Given the description of an element on the screen output the (x, y) to click on. 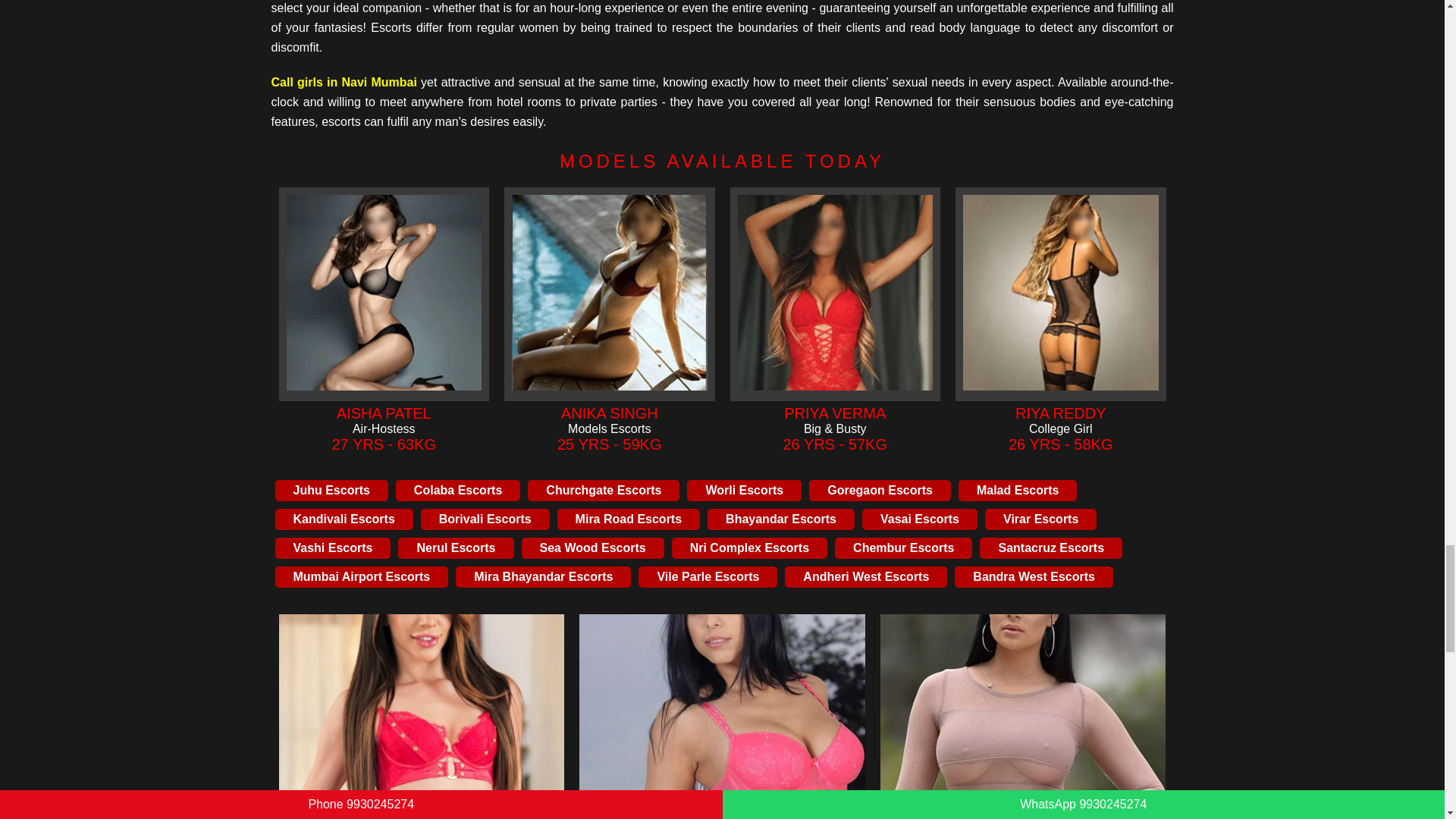
Mira Road Escorts (628, 518)
Mumbai Airport Escorts (361, 577)
Juhu Escorts (331, 490)
Chembur Escorts (903, 547)
Mira Bhayandar Escorts (542, 577)
Vile Parle Escorts (708, 577)
Colaba Escorts (457, 490)
Nerul Escorts (455, 547)
Malad Escorts (1017, 490)
Vashi Escorts (332, 547)
Goregaon Escorts (879, 490)
Churchgate Escorts (603, 490)
Kandivali Escorts (343, 518)
Virar Escorts (1040, 518)
Borivali Escorts (485, 518)
